Given the description of an element on the screen output the (x, y) to click on. 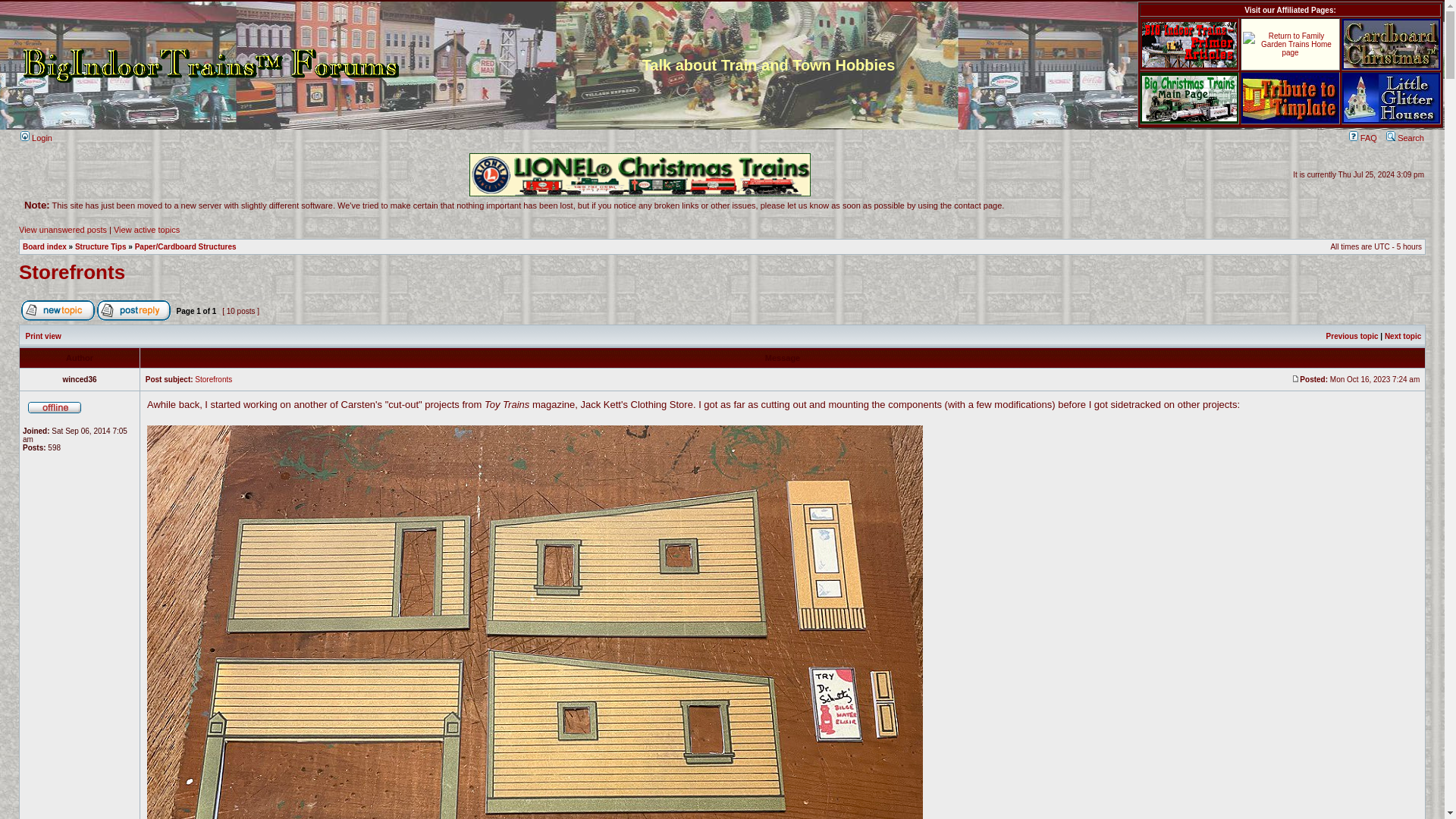
Print view (43, 336)
Structure Tips (100, 246)
Storefronts (71, 272)
FAQ (1363, 137)
Board index (44, 246)
Storefronts (213, 379)
Post (1295, 378)
Post new topic (57, 310)
Login (36, 137)
Offline (54, 406)
Search (1404, 137)
View unanswered posts (62, 229)
Print view (43, 336)
Reply to topic (133, 310)
View active topics (146, 229)
